Given the description of an element on the screen output the (x, y) to click on. 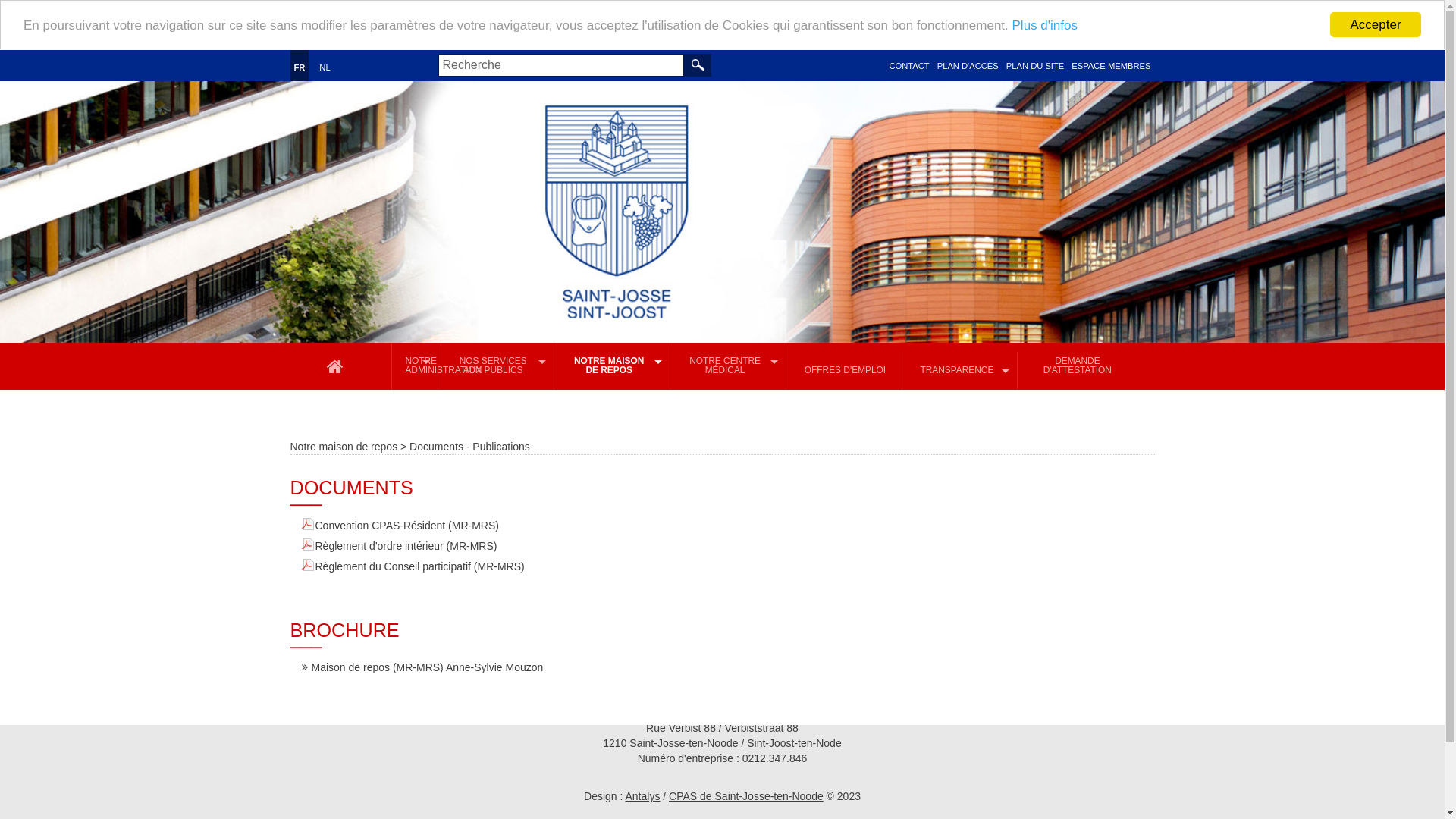
CONTACT Element type: text (908, 65)
secretariat.cpasst-josse@cpassjtn.irisnet.be Element type: text (426, 712)
Documents - Publications Element type: text (469, 446)
ESPACE MEMBRES Element type: text (1110, 65)
Plus d'infos Element type: text (1044, 25)
OFFRES D'EMPLOI Element type: text (844, 372)
Accepter Element type: text (1375, 24)
NOS SERVICES AUX PUBLICS Element type: text (497, 367)
NOTRE MAISON DE REPOS Element type: text (613, 367)
Notre maison de repos Element type: text (343, 446)
PLAN DU SITE Element type: text (1034, 65)
DEMANDE D'ATTESTATION Element type: text (1076, 367)
Maison de repos (MR-MRS) Anne-Sylvie Mouzon Element type: text (422, 668)
CPAS de Saint-Josse-ten-Noode Element type: text (745, 796)
TRANSPARENCE Element type: text (960, 372)
  Element type: text (697, 64)
NL Element type: text (324, 67)
NOTRE ADMINISTRATION Element type: text (415, 367)
Antalys Element type: text (641, 796)
